Given the description of an element on the screen output the (x, y) to click on. 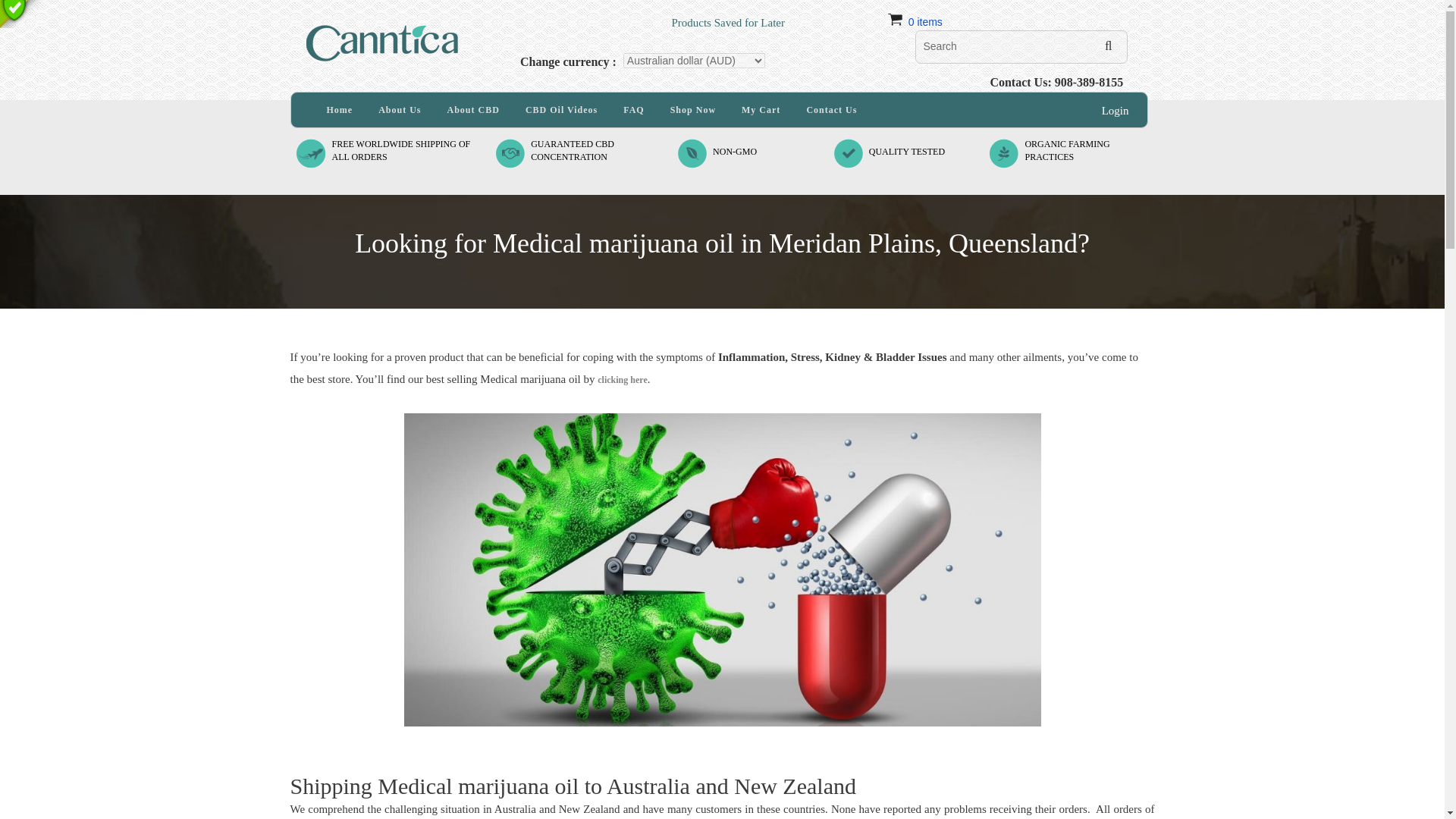
NON-GMO (735, 151)
CBD Oil Videos (561, 109)
0 items (925, 21)
Contact Us (1067, 150)
About CBD (831, 109)
Shop Now (472, 109)
About Us (693, 109)
Search for: (399, 109)
Currency (1020, 46)
clicking here (694, 60)
Home (621, 379)
Products Saved for Later (572, 150)
Login (340, 109)
